Given the description of an element on the screen output the (x, y) to click on. 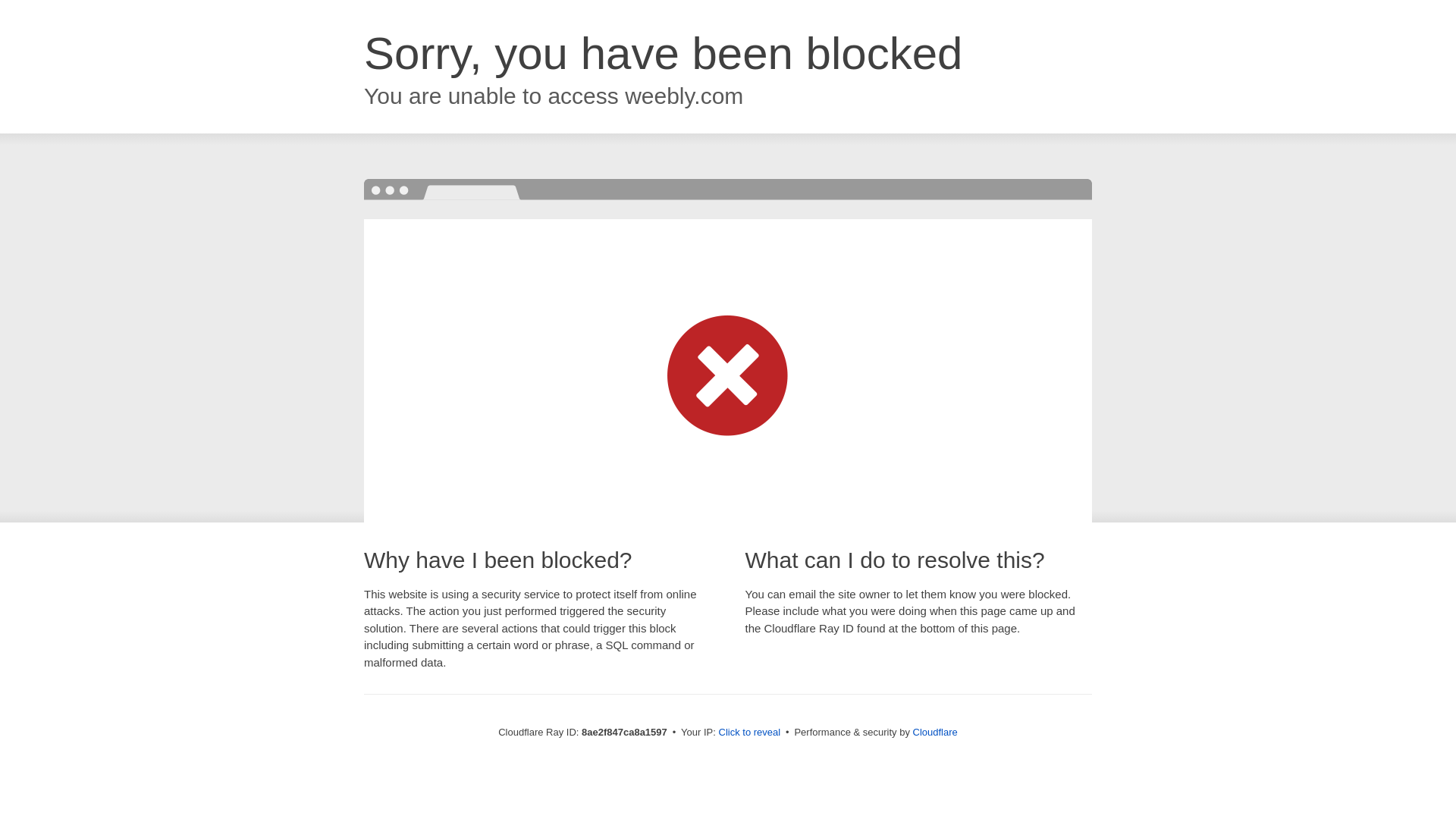
Click to reveal (749, 732)
Cloudflare (935, 731)
